Given the description of an element on the screen output the (x, y) to click on. 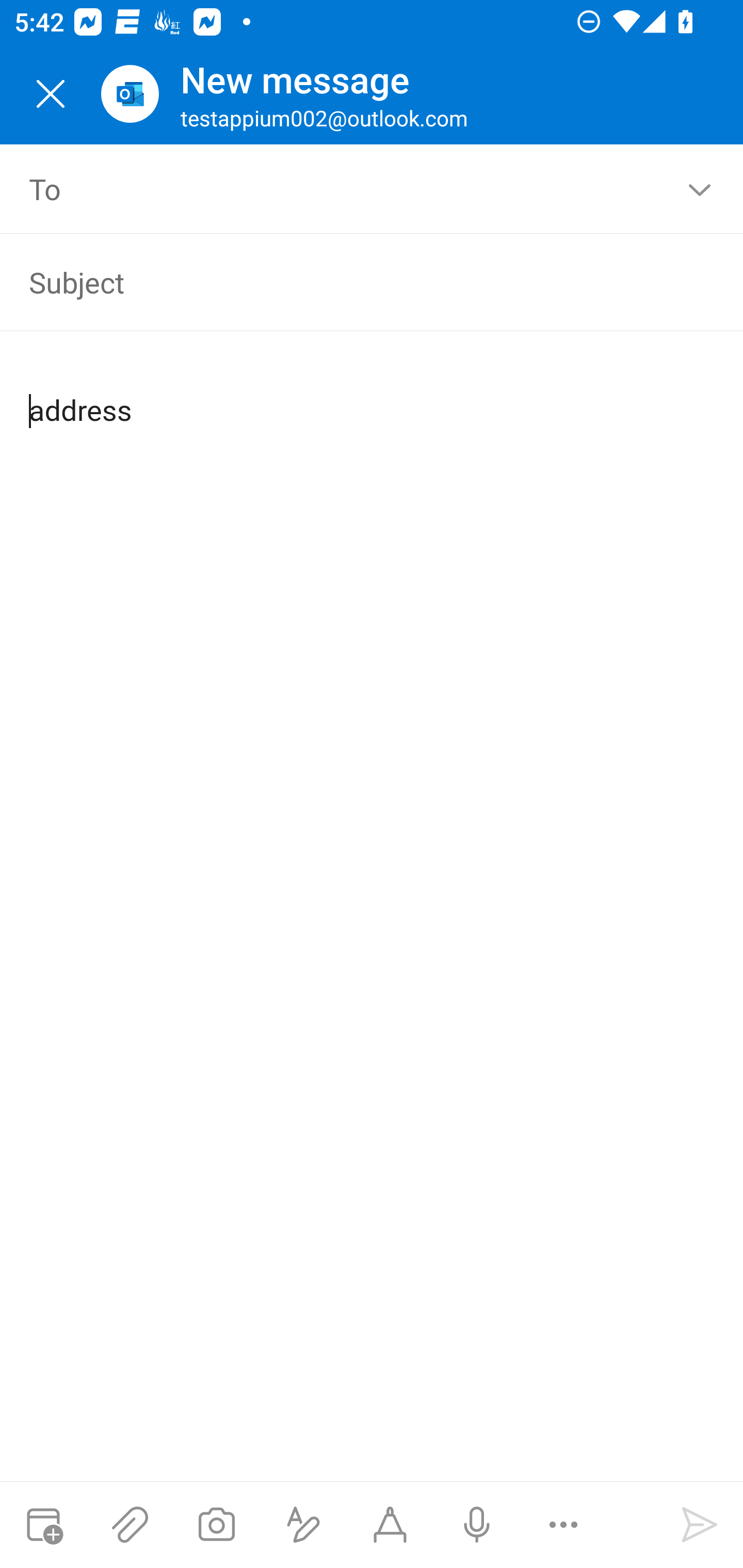
Close (50, 93)
Subject (342, 281)

address (372, 394)
Attach meeting (43, 1524)
Attach files (129, 1524)
Take a photo (216, 1524)
Show formatting options (303, 1524)
Start Ink compose (389, 1524)
Dictation (476, 1524)
More options (563, 1524)
Send (699, 1524)
